Given the description of an element on the screen output the (x, y) to click on. 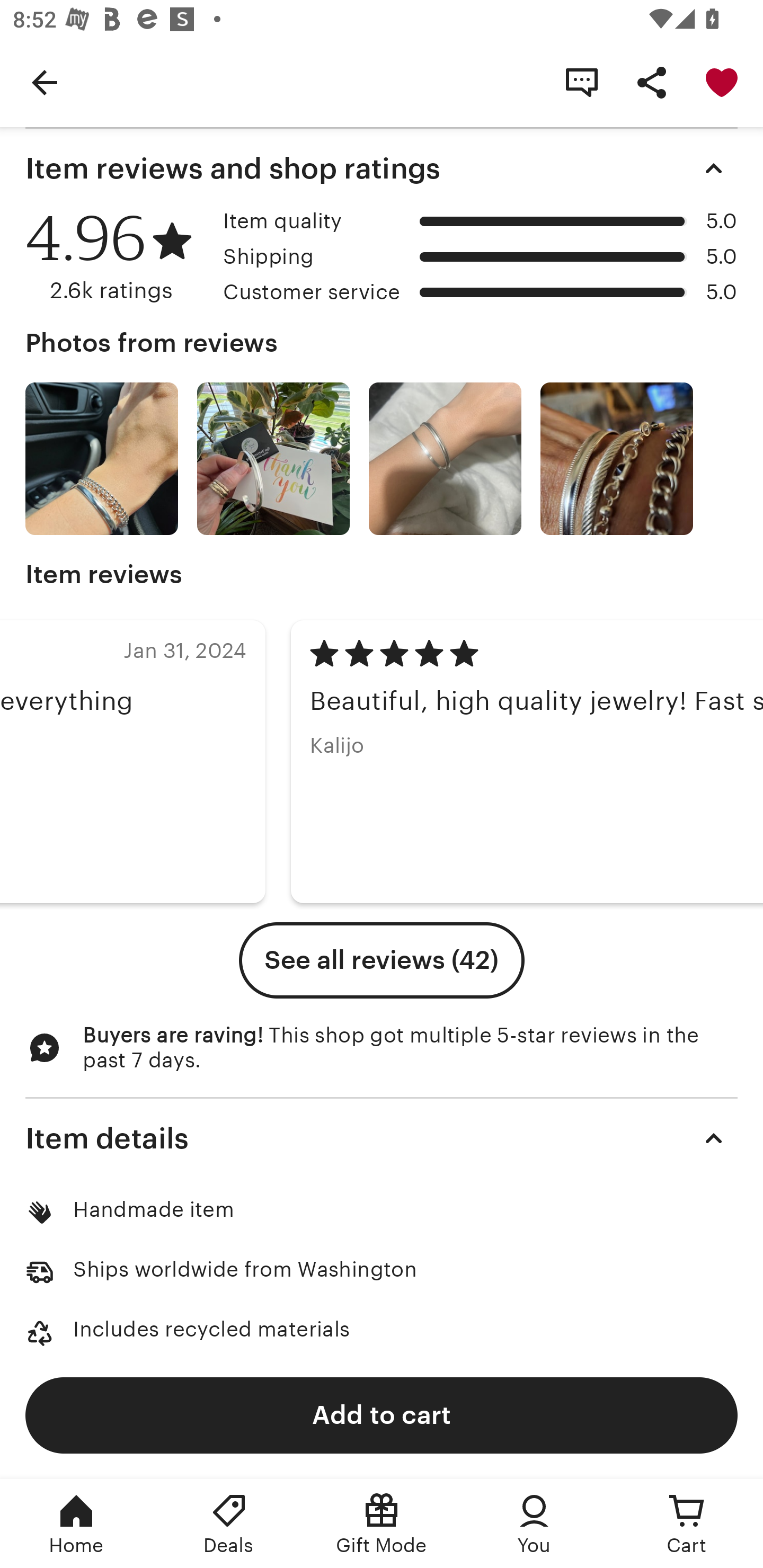
Navigate up (44, 81)
Contact shop (581, 81)
Share (651, 81)
Item reviews and shop ratings (381, 168)
4.96 2.6k ratings (117, 257)
Photo from review (101, 458)
Photo from review (272, 458)
Photo from review (444, 458)
Photo from review (616, 458)
See all reviews (42) (381, 959)
Item details (381, 1138)
Add to cart (381, 1414)
Deals (228, 1523)
Gift Mode (381, 1523)
You (533, 1523)
Cart (686, 1523)
